Given the description of an element on the screen output the (x, y) to click on. 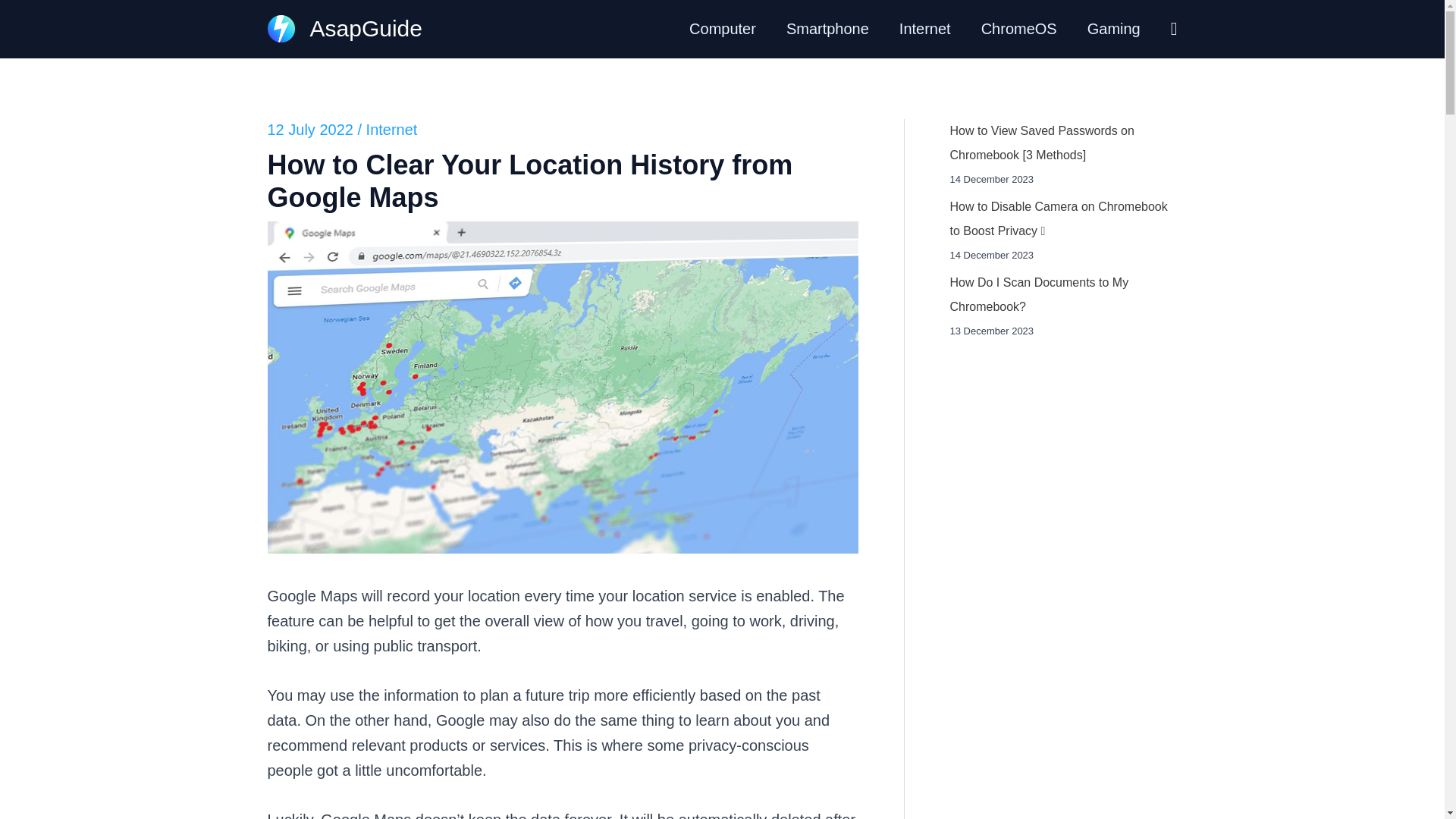
Gaming (1113, 28)
Smartphone (827, 28)
How Do I Scan Documents to My Chromebook? (1038, 294)
Internet (391, 129)
AsapGuide (365, 27)
ChromeOS (1018, 28)
Internet (924, 28)
Computer (722, 28)
